Given the description of an element on the screen output the (x, y) to click on. 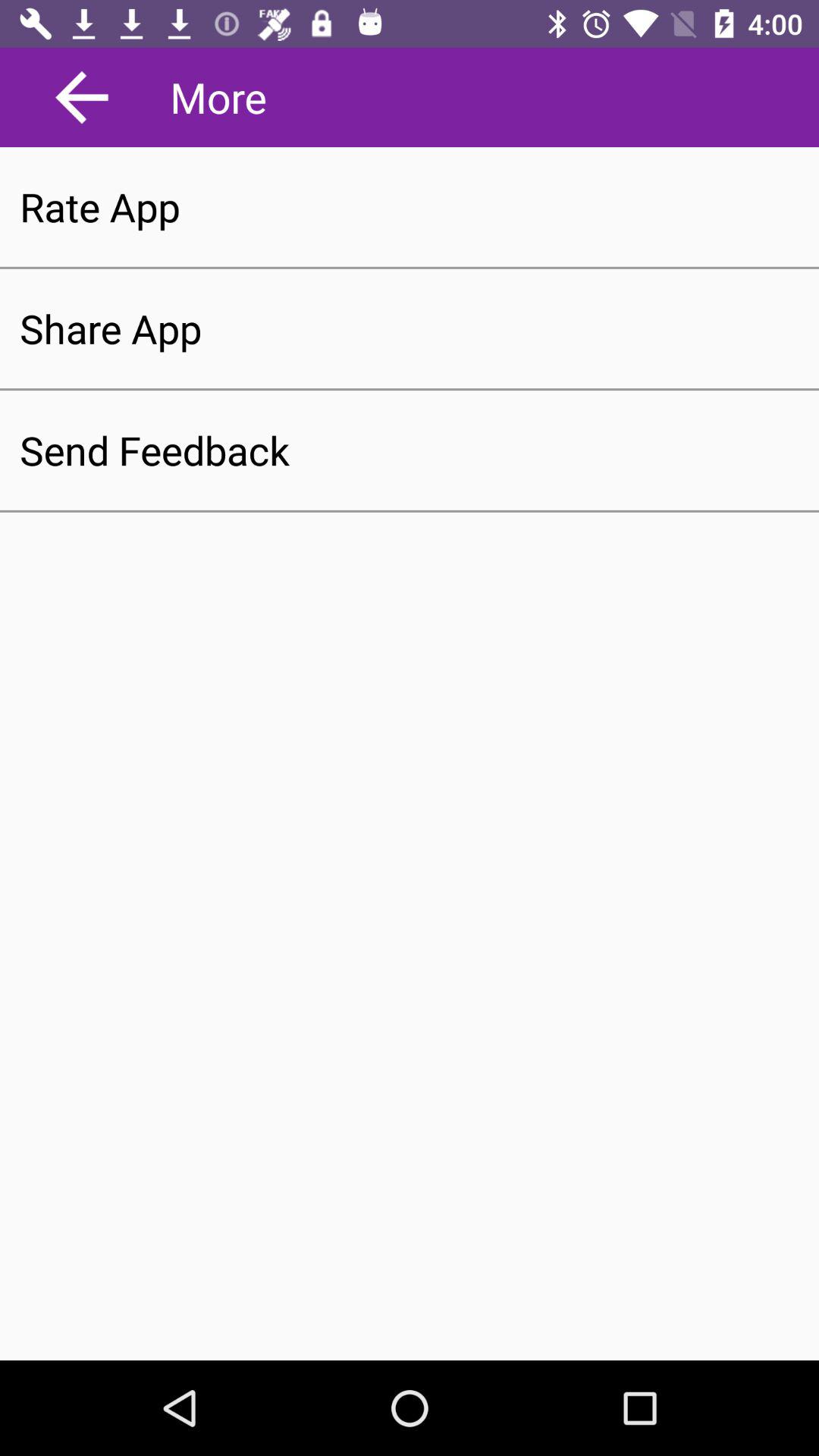
scroll until rate app item (409, 206)
